Given the description of an element on the screen output the (x, y) to click on. 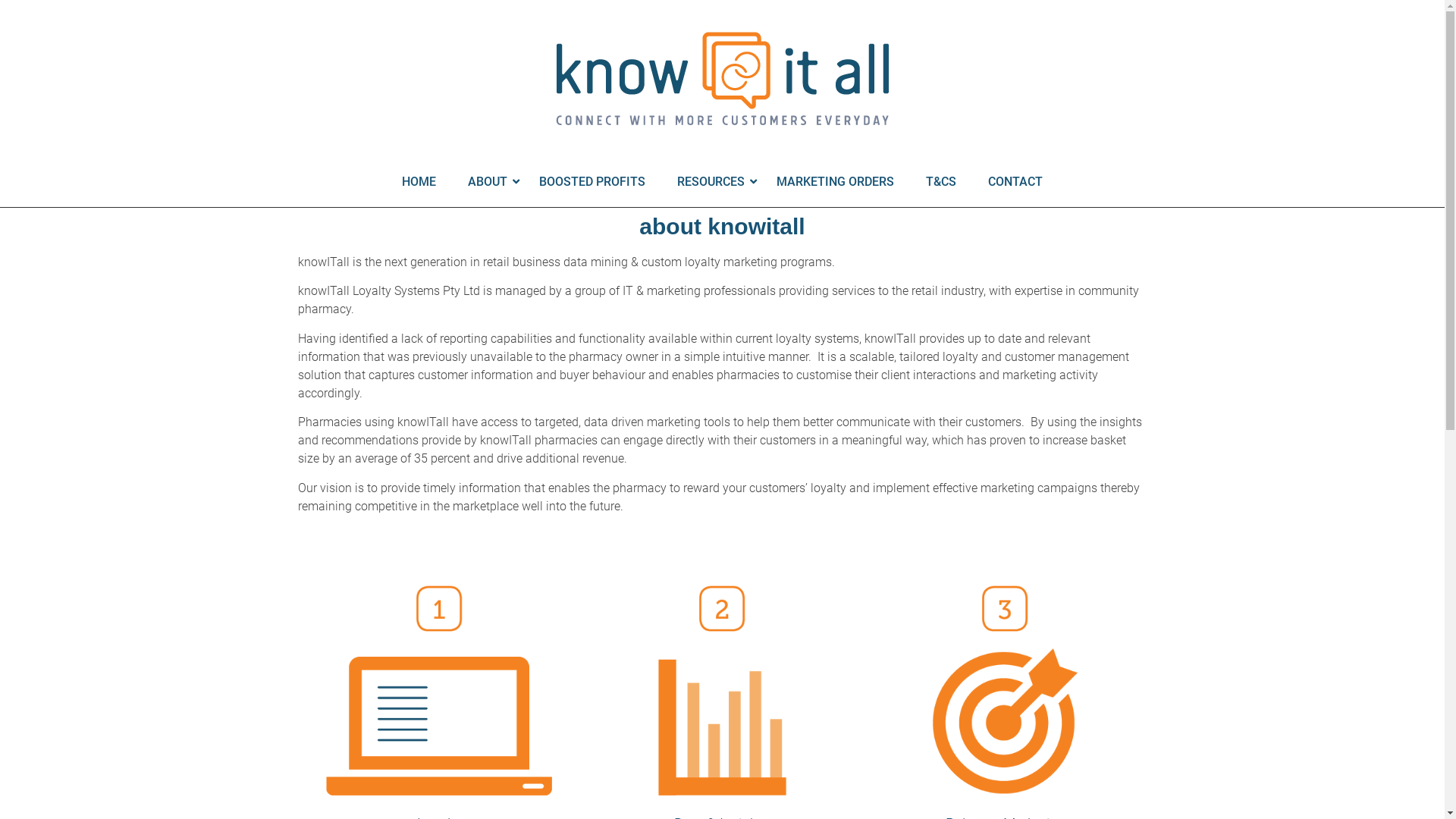
HOME Element type: text (418, 181)
ABOUT Element type: text (487, 181)
MARKETING ORDERS Element type: text (834, 181)
BOOSTED PROFITS Element type: text (592, 181)
T&CS Element type: text (941, 181)
RESOURCES Element type: text (710, 181)
CONTACT Element type: text (1015, 181)
